Given the description of an element on the screen output the (x, y) to click on. 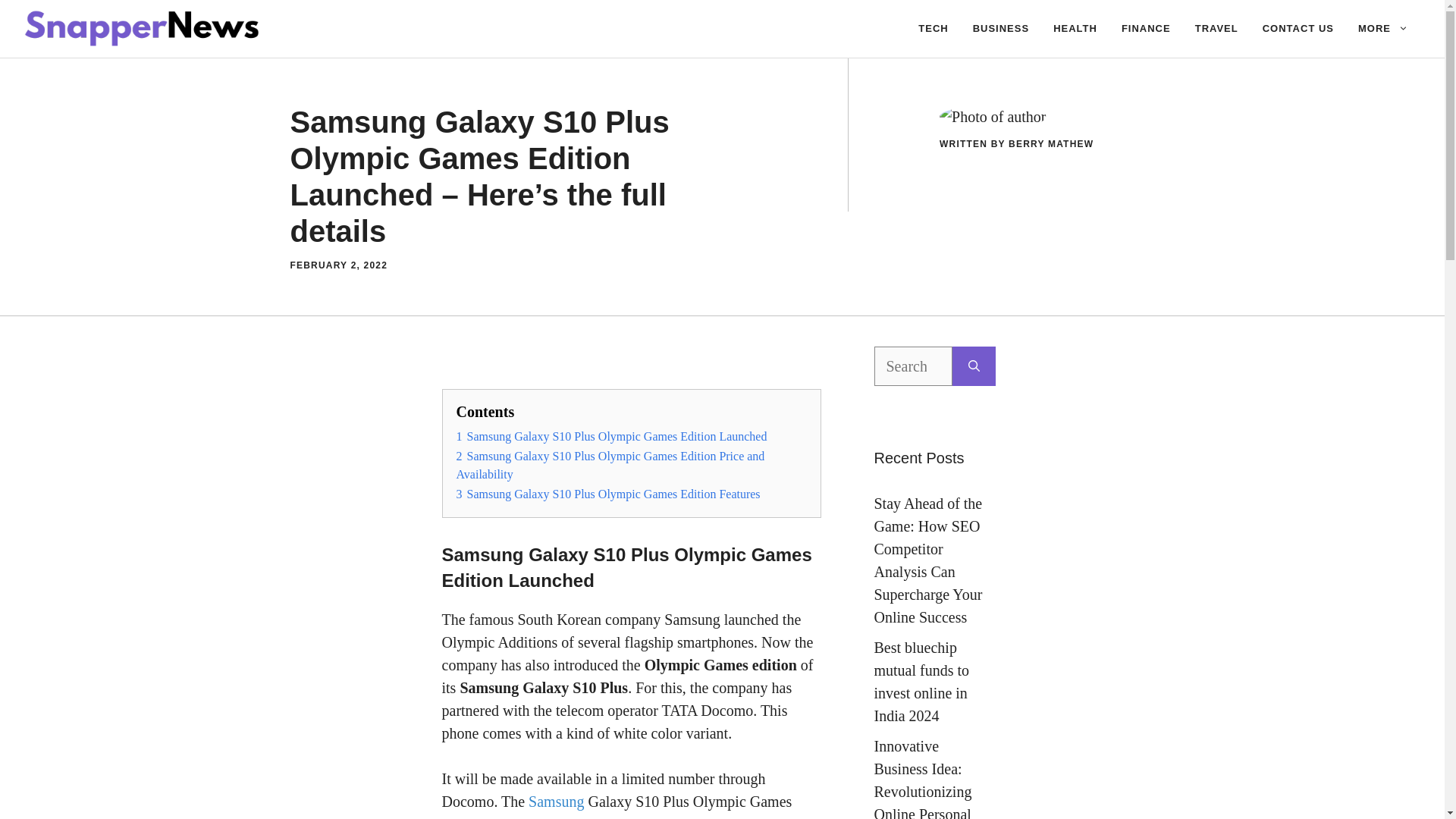
HEALTH (1075, 28)
CONTACT US (1297, 28)
3 Samsung Galaxy S10 Plus Olympic Games Edition Features (608, 493)
TRAVEL (1216, 28)
MORE (1383, 28)
Best bluechip mutual funds to invest online in India 2024 (921, 681)
Search for: (912, 365)
FINANCE (1145, 28)
TECH (932, 28)
BUSINESS (1000, 28)
Samsung (553, 801)
1 Samsung Galaxy S10 Plus Olympic Games Edition Launched (612, 436)
